Given the description of an element on the screen output the (x, y) to click on. 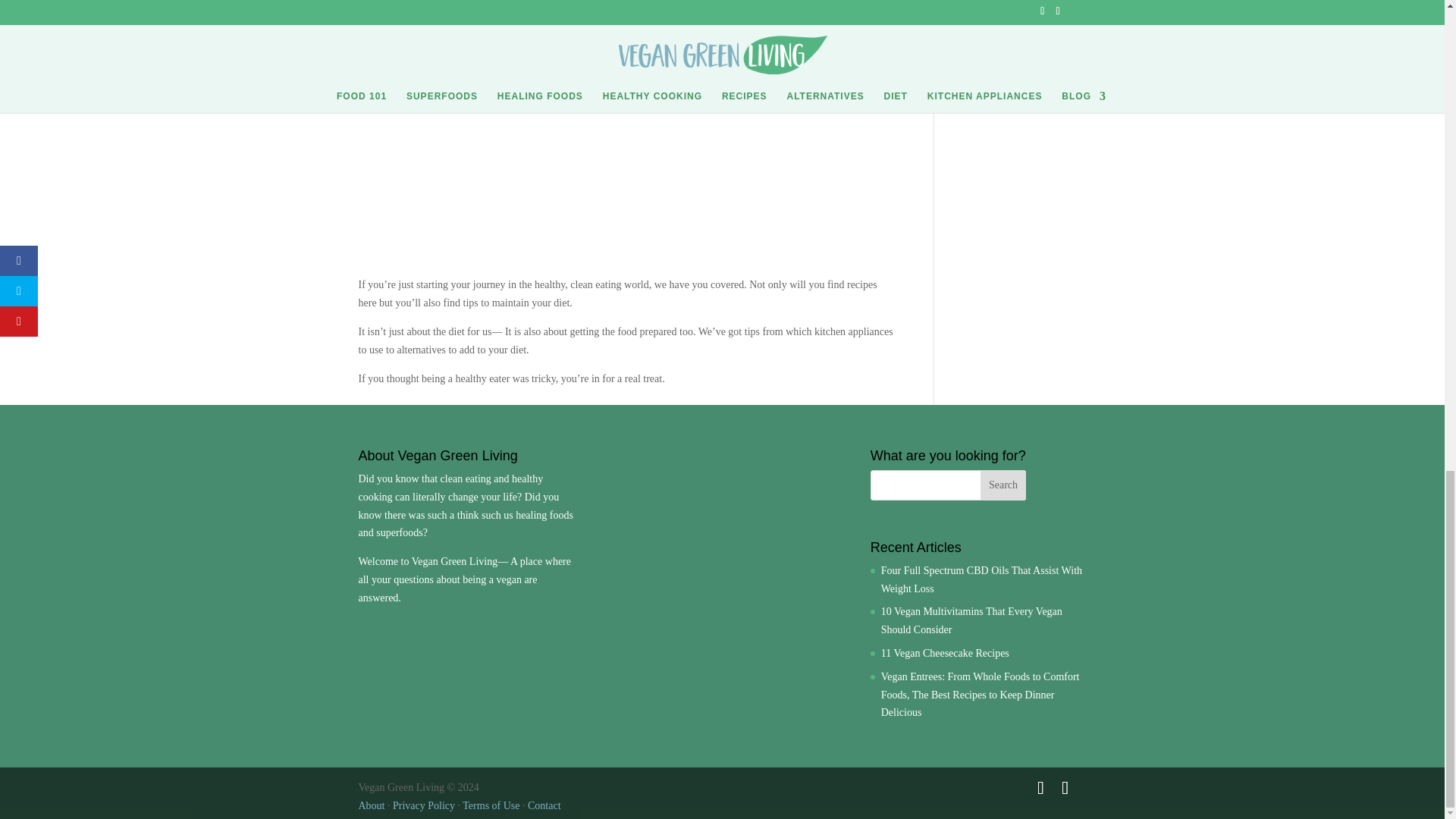
Privacy Policy (423, 805)
10 Vegan Multivitamins That Every Vegan Should Consider (971, 620)
Search (1002, 485)
About (371, 805)
Terms of Use (491, 805)
Contact (543, 805)
11 Vegan Cheesecake Recipes (944, 653)
Search (1002, 485)
Four Full Spectrum CBD Oils That Assist With Weight Loss (980, 579)
